Given the description of an element on the screen output the (x, y) to click on. 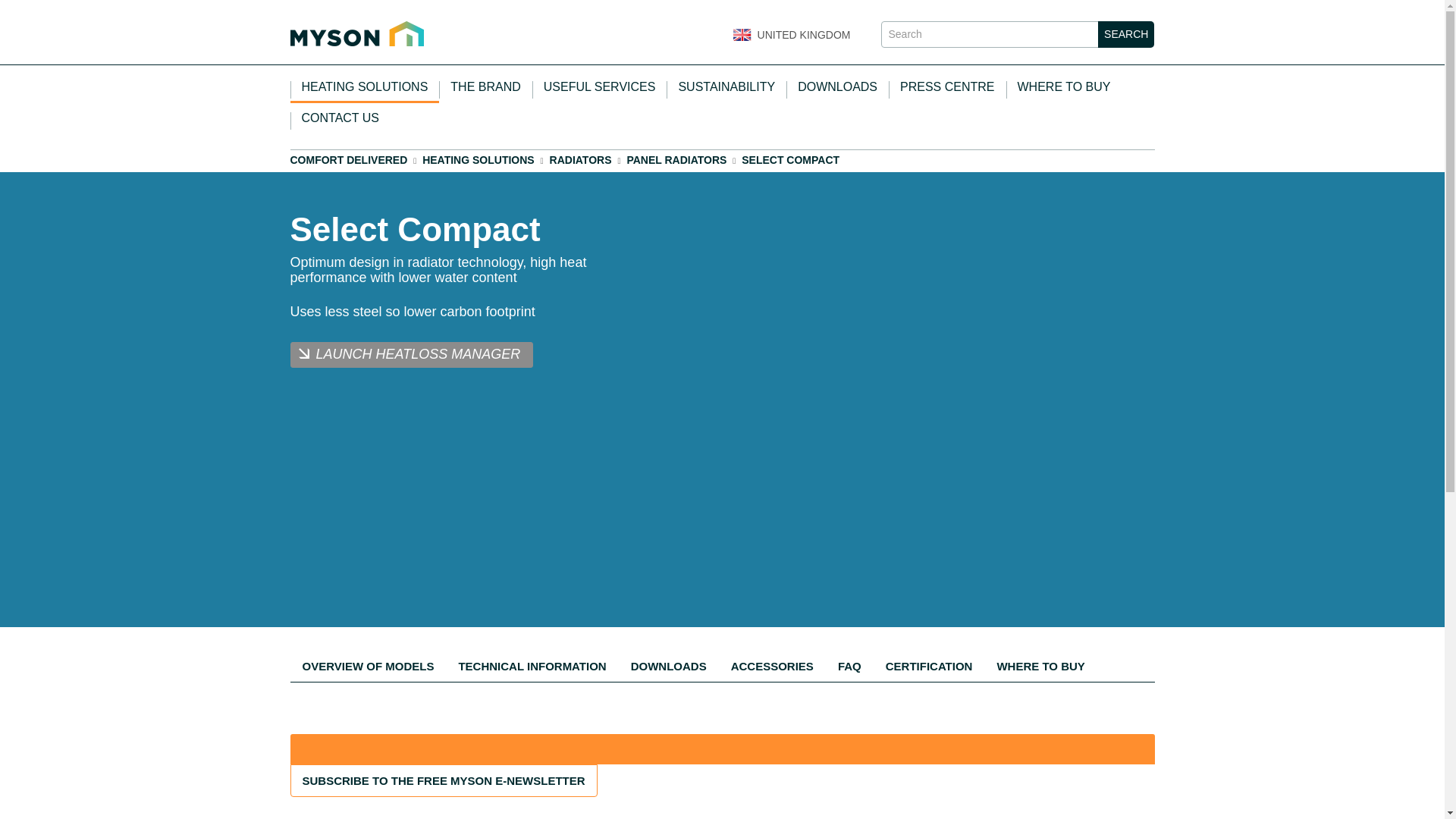
SEARCH (1125, 34)
UNITED KINGDOM (790, 30)
HEATING SOLUTIONS (364, 87)
